Given the description of an element on the screen output the (x, y) to click on. 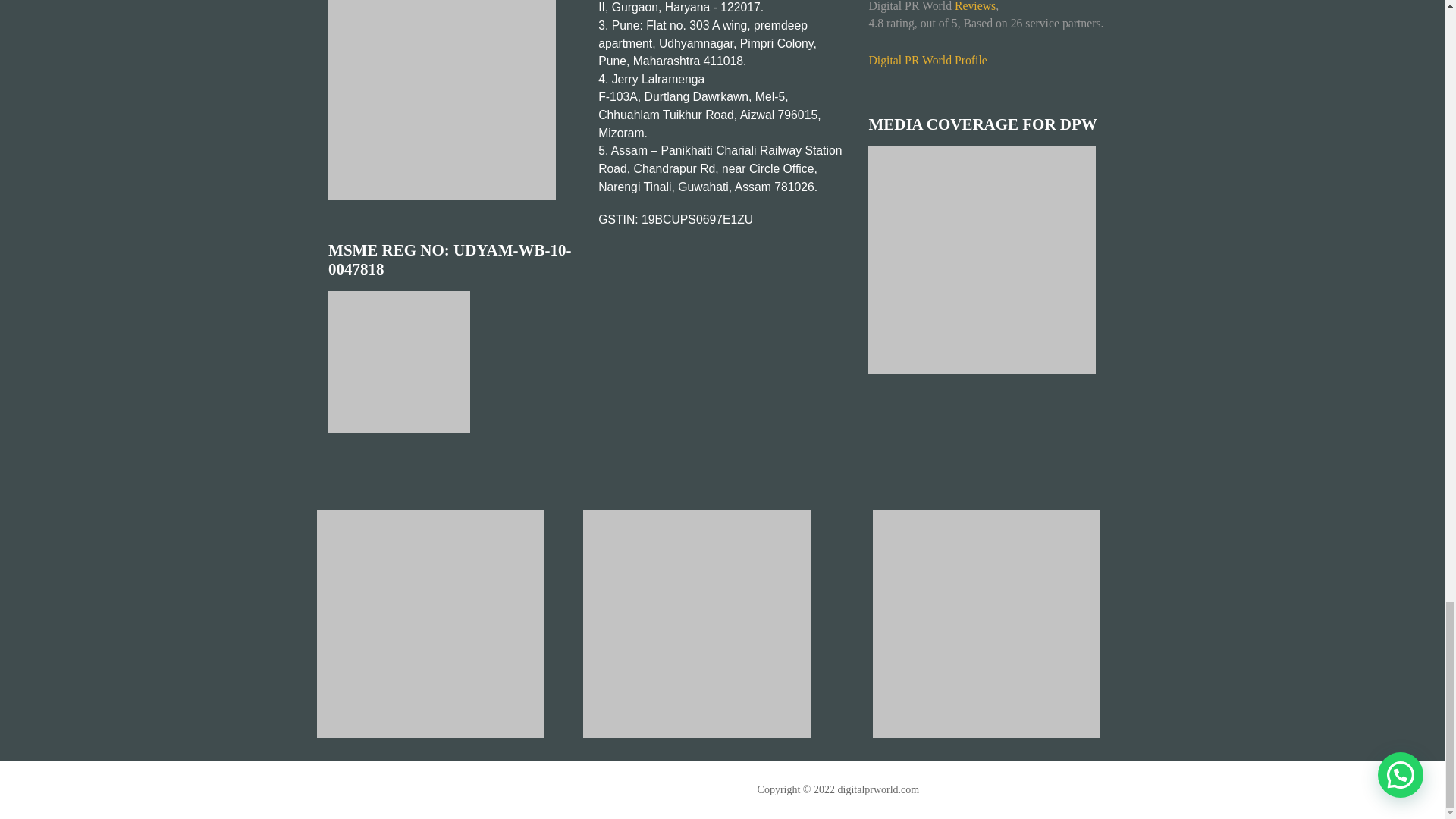
Check all reviews (975, 6)
Check all reviews (927, 60)
